Given the description of an element on the screen output the (x, y) to click on. 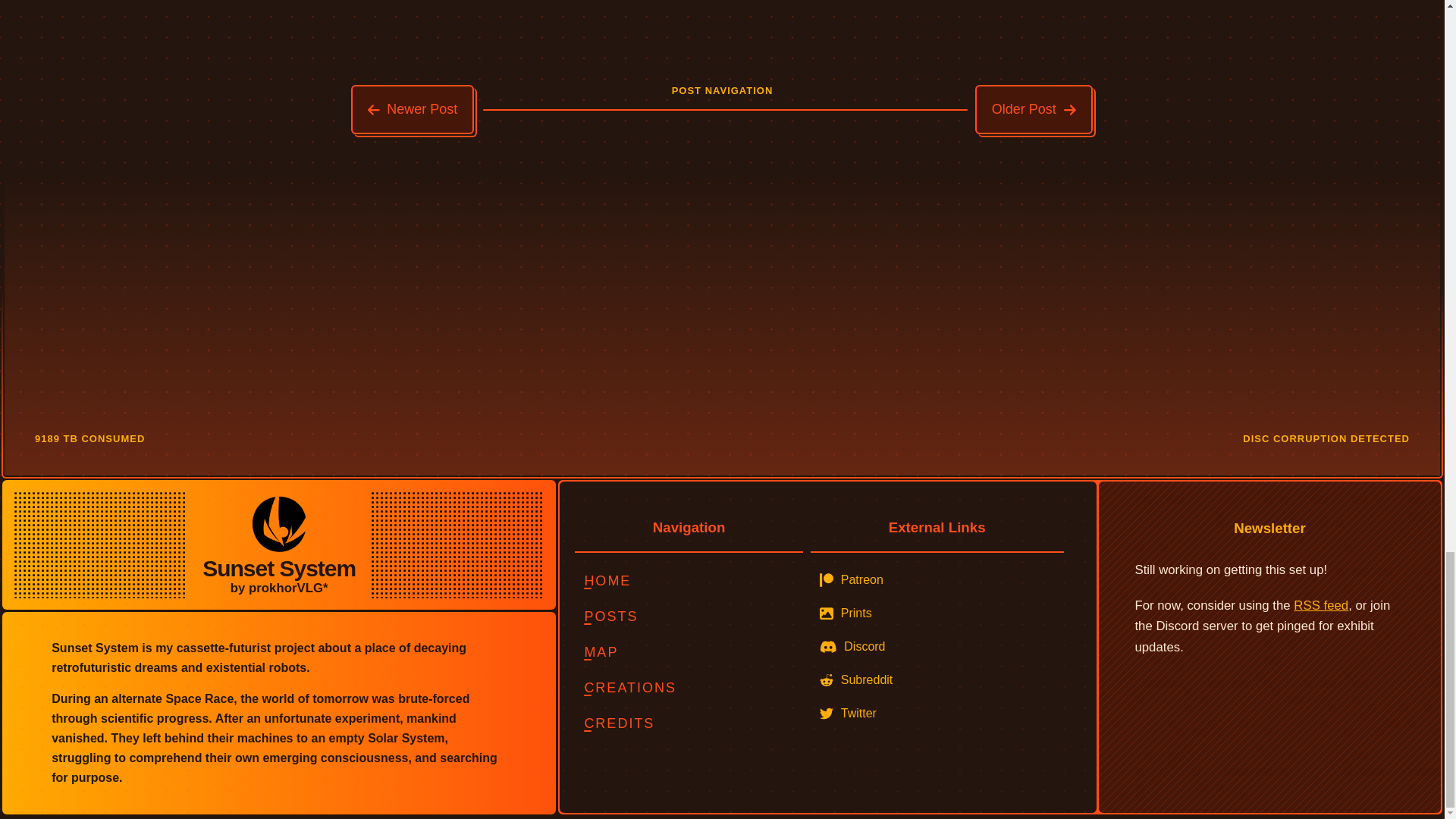
Older Post (1034, 109)
HOME (688, 581)
Twitter (937, 713)
CREATIONS (688, 687)
Patreon (937, 580)
RSS feed (1321, 605)
POSTS (688, 616)
Newer Post (412, 109)
Subreddit (937, 680)
Discord (937, 646)
Prints (937, 613)
MAP (688, 652)
CREDITS (688, 723)
